Given the description of an element on the screen output the (x, y) to click on. 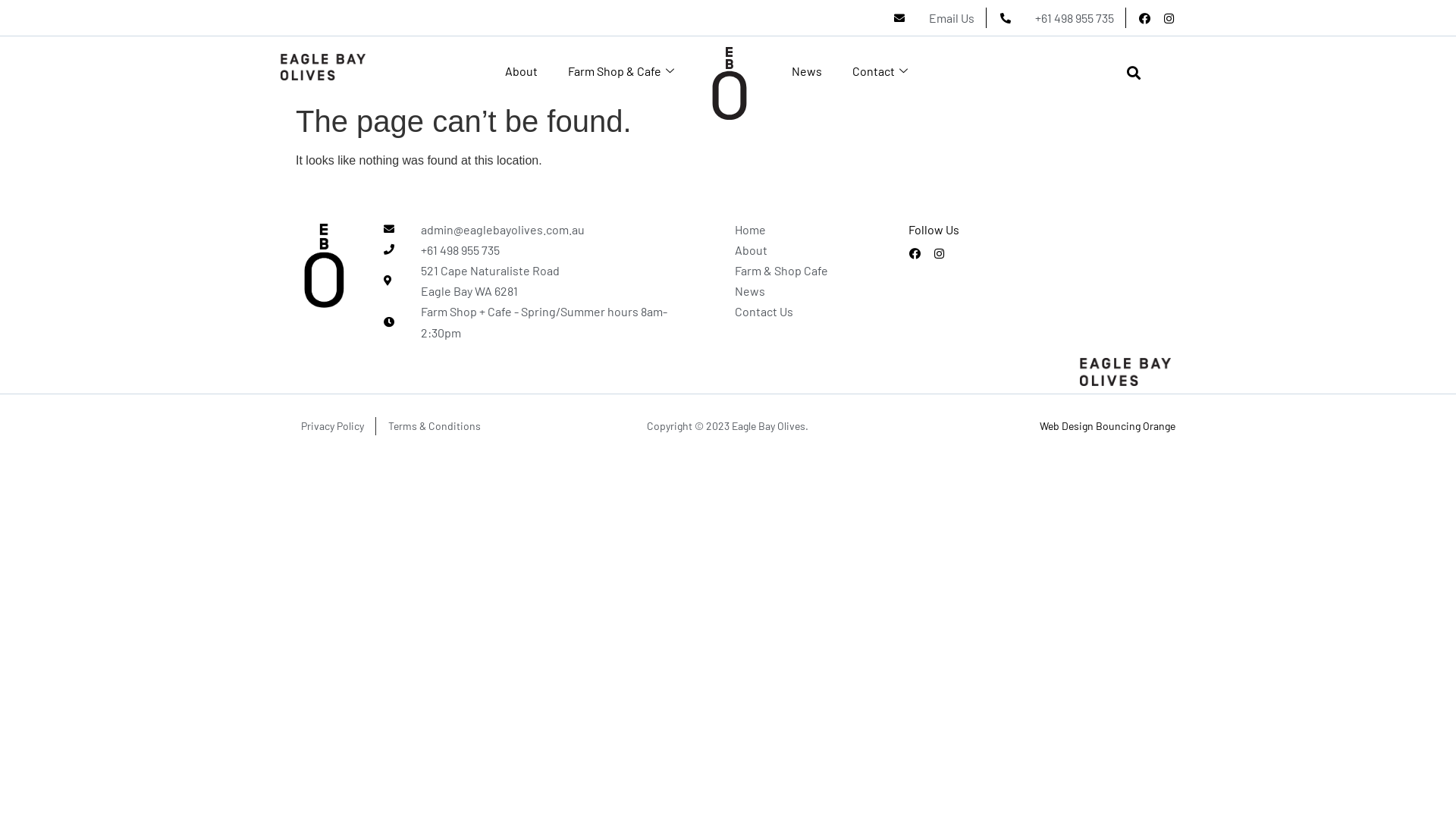
Privacy Policy Element type: text (322, 426)
Contact Us Element type: text (797, 311)
News Element type: text (806, 70)
Email Us Element type: text (932, 17)
News Element type: text (797, 290)
Web Design Bouncing Orange Element type: text (1107, 425)
Terms & Conditions Element type: text (423, 426)
521 Cape Naturaliste Road
Eagle Bay WA 6281 Element type: text (535, 280)
Farm & Shop Cafe Element type: text (797, 270)
+61 498 955 735 Element type: text (535, 249)
+61 498 955 735 Element type: text (1055, 17)
Contact Element type: text (881, 70)
Home Element type: text (797, 229)
About Element type: text (797, 249)
About Element type: text (520, 70)
admin@eaglebayolives.com.au Element type: text (535, 229)
Farm Shop & Cafe Element type: text (622, 70)
